Given the description of an element on the screen output the (x, y) to click on. 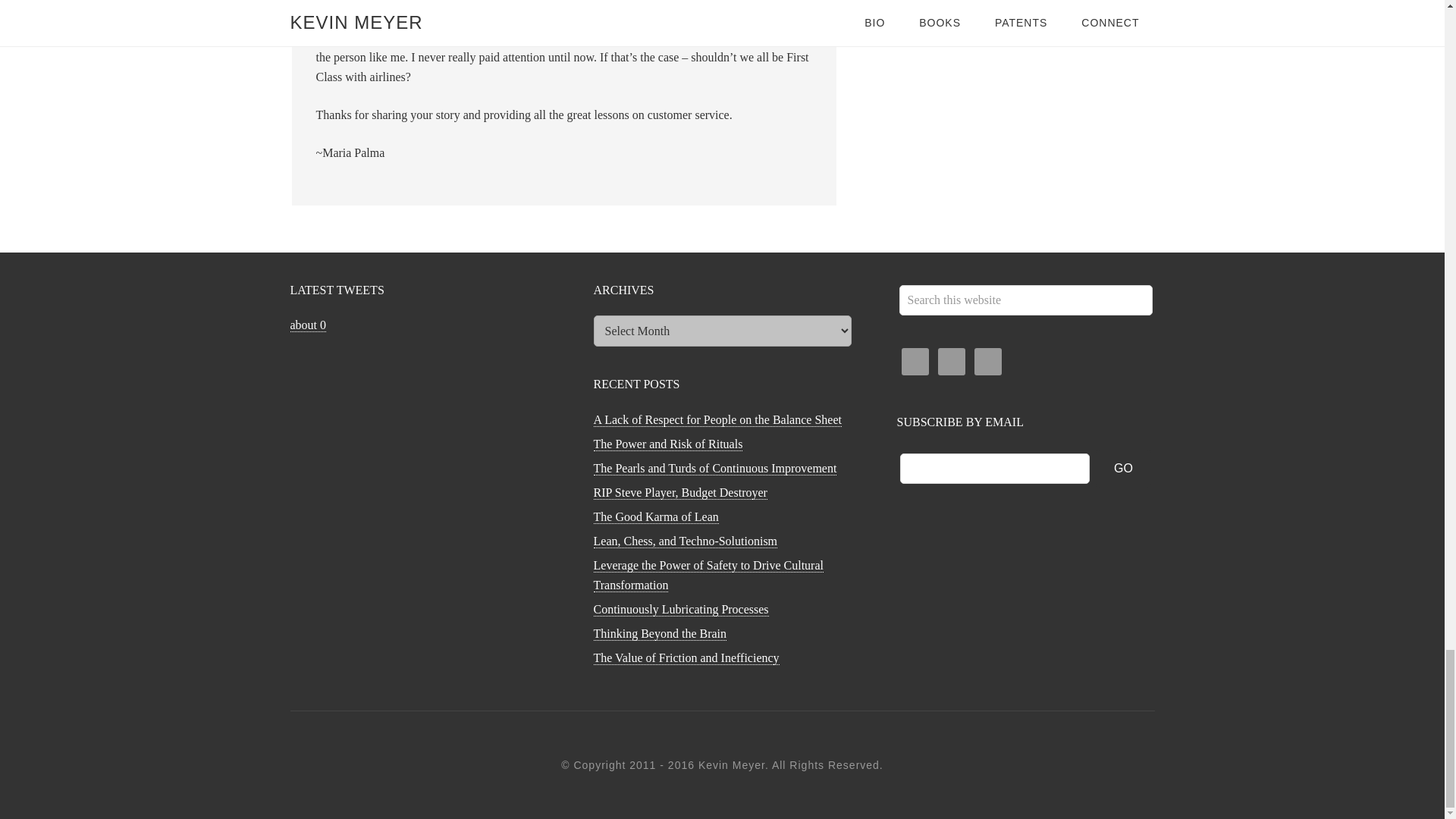
Thinking Beyond the Brain (659, 633)
Lean, Chess, and Techno-Solutionism (684, 540)
A Lack of Respect for People on the Balance Sheet (716, 419)
The Good Karma of Lean (654, 517)
RIP Steve Player, Budget Destroyer (679, 492)
The Pearls and Turds of Continuous Improvement (713, 468)
Continuously Lubricating Processes (680, 609)
about 0 (307, 325)
The Value of Friction and Inefficiency (685, 658)
The Power and Risk of Rituals (667, 444)
Go (1123, 468)
